Given the description of an element on the screen output the (x, y) to click on. 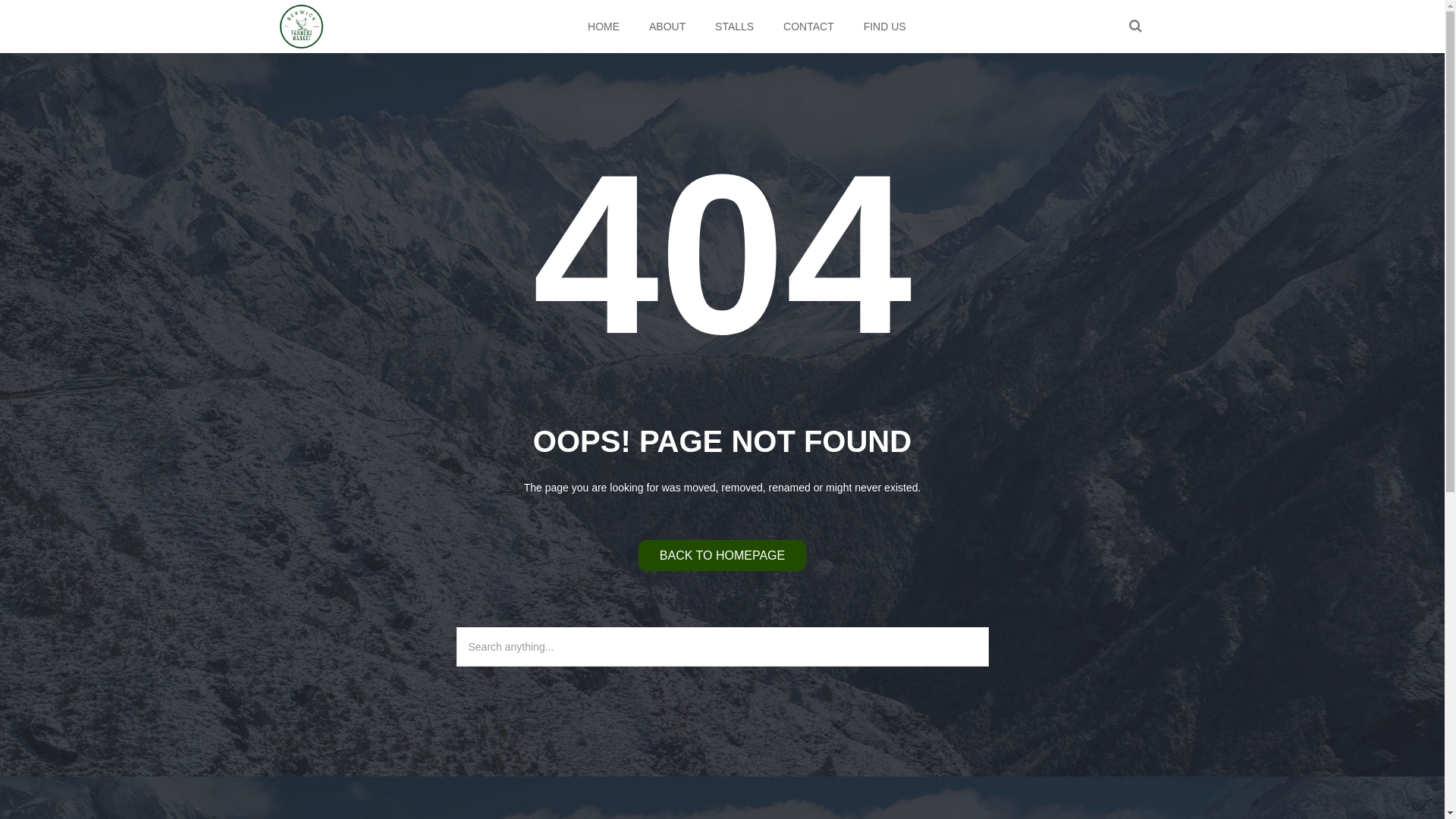
ABOUT Element type: text (666, 26)
FIND US Element type: text (884, 26)
Berwick Farmers Market Element type: hover (301, 26)
STALLS Element type: text (734, 26)
CONTACT Element type: text (808, 26)
BACK TO HOMEPAGE Element type: text (722, 555)
HOME Element type: text (603, 26)
